Given the description of an element on the screen output the (x, y) to click on. 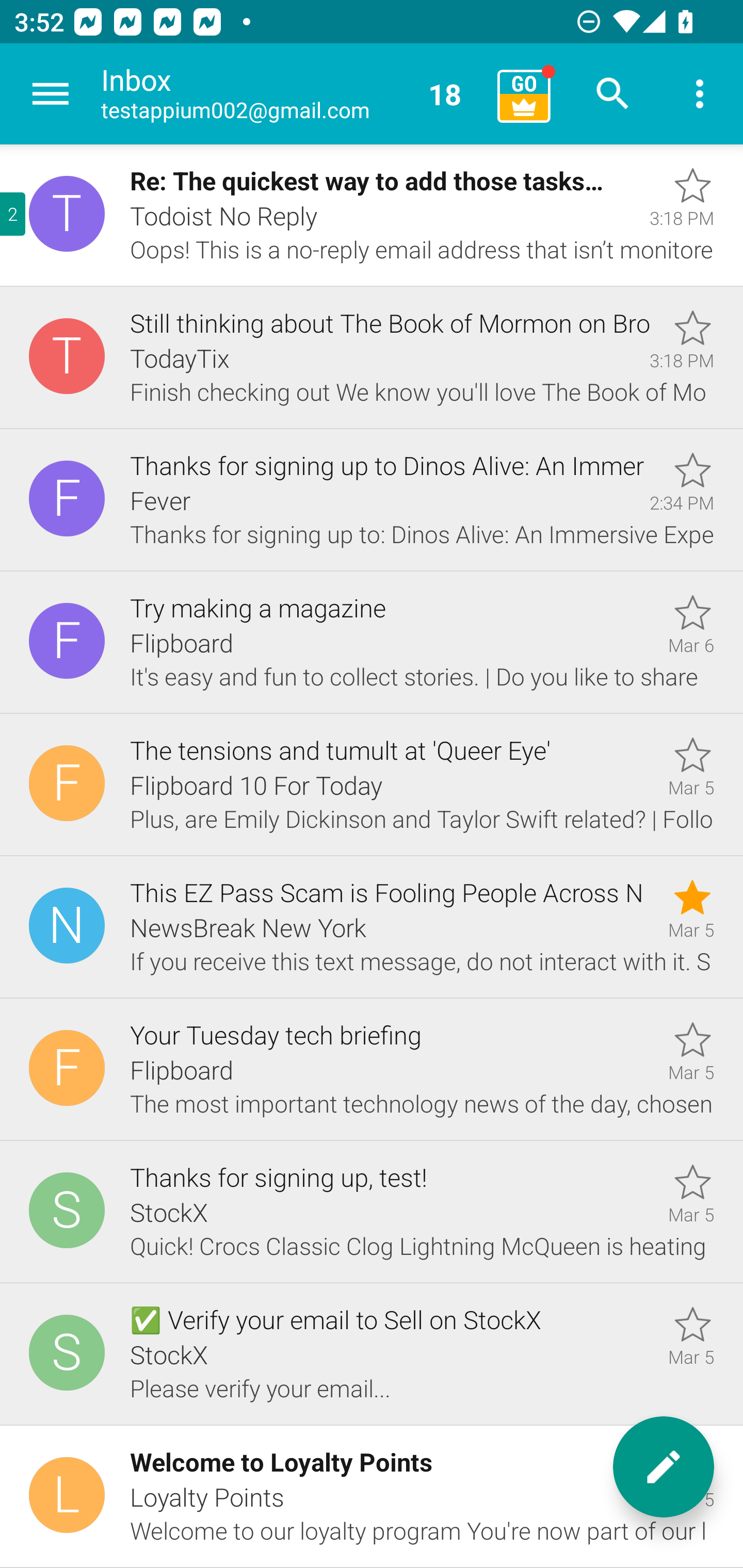
Navigate up (50, 93)
Inbox testappium002@gmail.com 18 (291, 93)
Search (612, 93)
More options (699, 93)
New message (663, 1466)
